Given the description of an element on the screen output the (x, y) to click on. 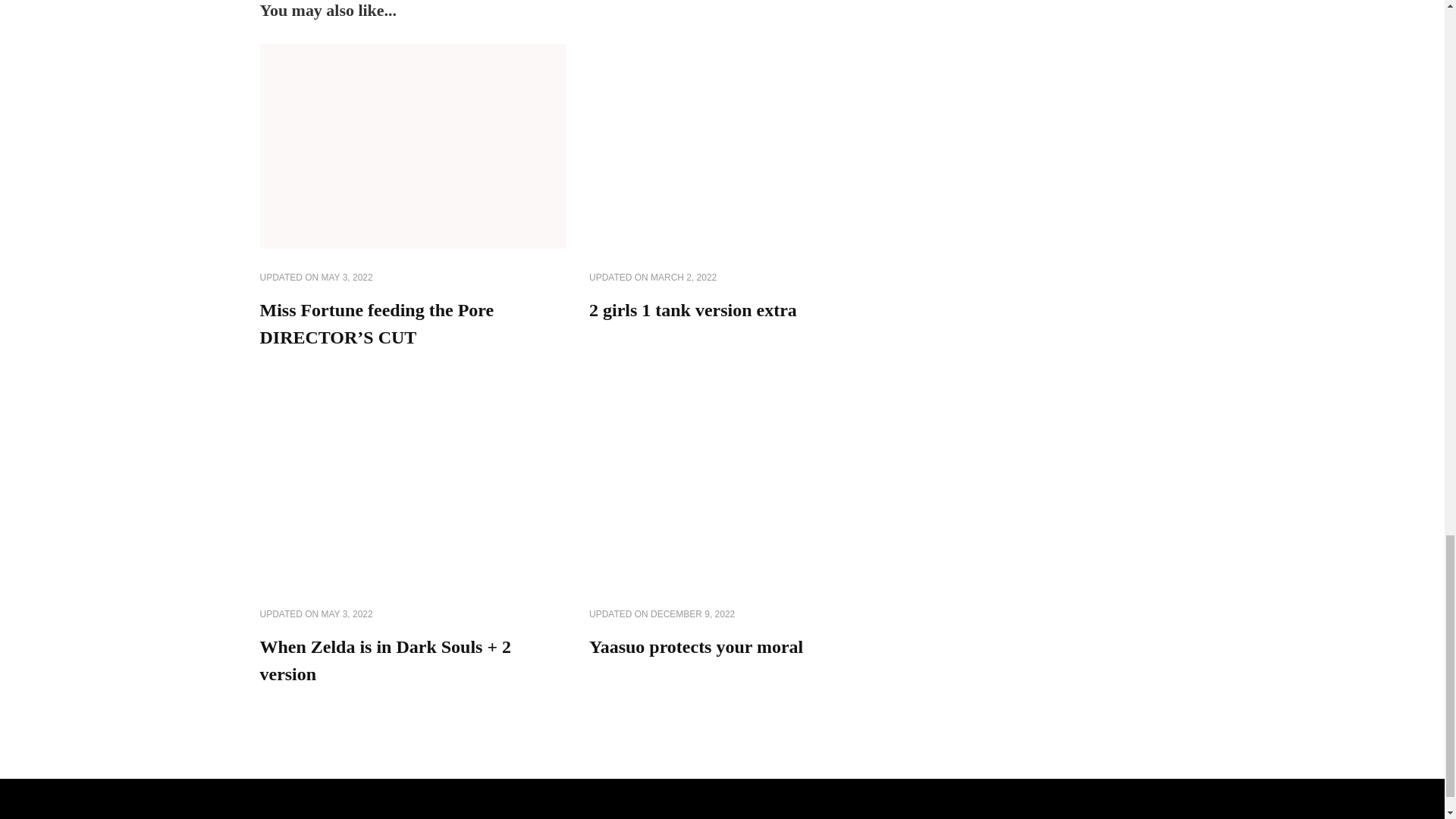
Yaasuo protects your moral (696, 646)
MAY 3, 2022 (346, 614)
2 girls 1 tank version extra (692, 310)
MARCH 2, 2022 (683, 278)
MAY 3, 2022 (346, 278)
DECEMBER 9, 2022 (692, 614)
